Given the description of an element on the screen output the (x, y) to click on. 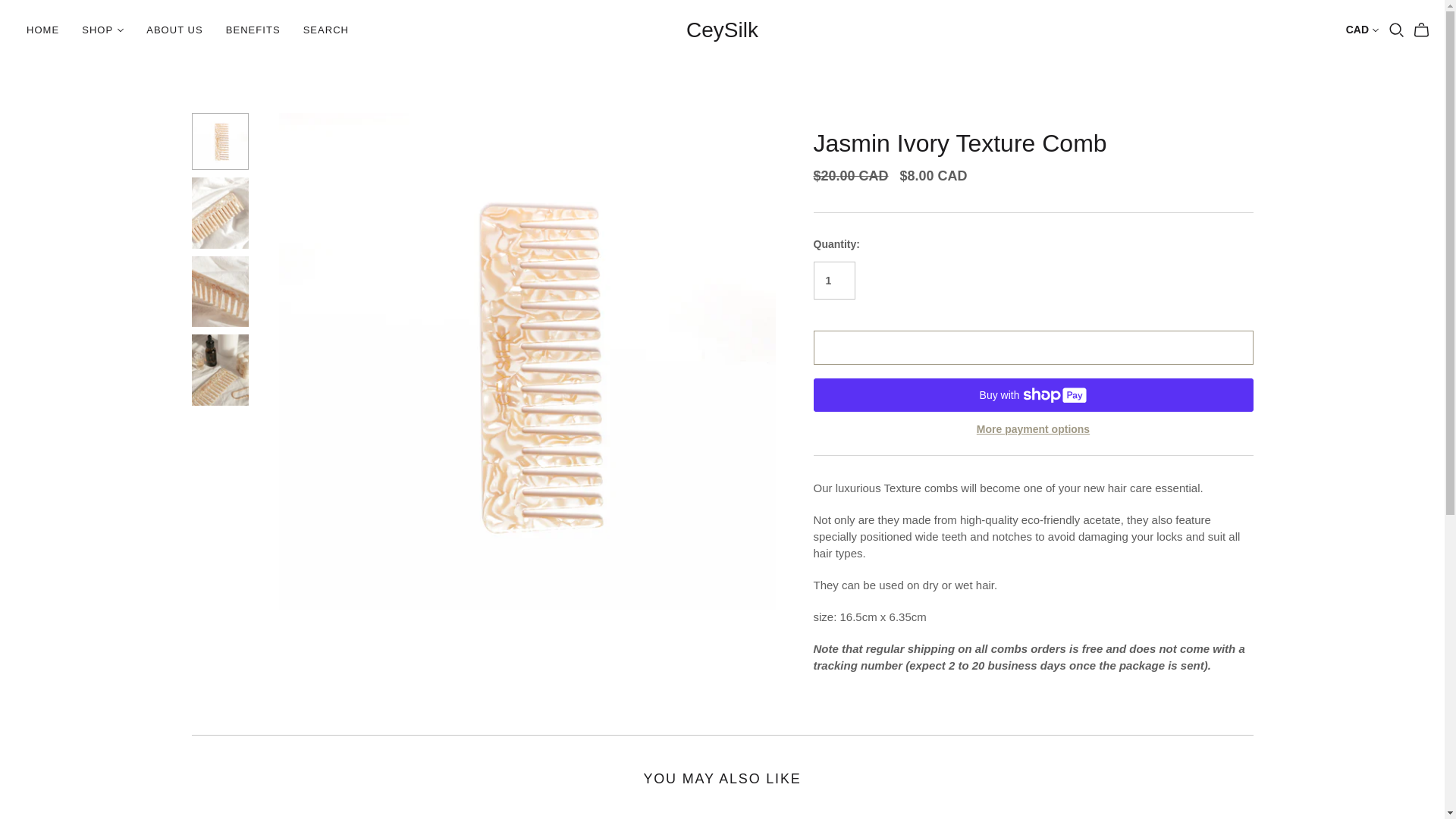
1 (833, 280)
CeySilk (721, 30)
BENEFITS (253, 30)
SHOP (102, 30)
ABOUT US (174, 30)
HOME (41, 30)
SEARCH (325, 30)
